Given the description of an element on the screen output the (x, y) to click on. 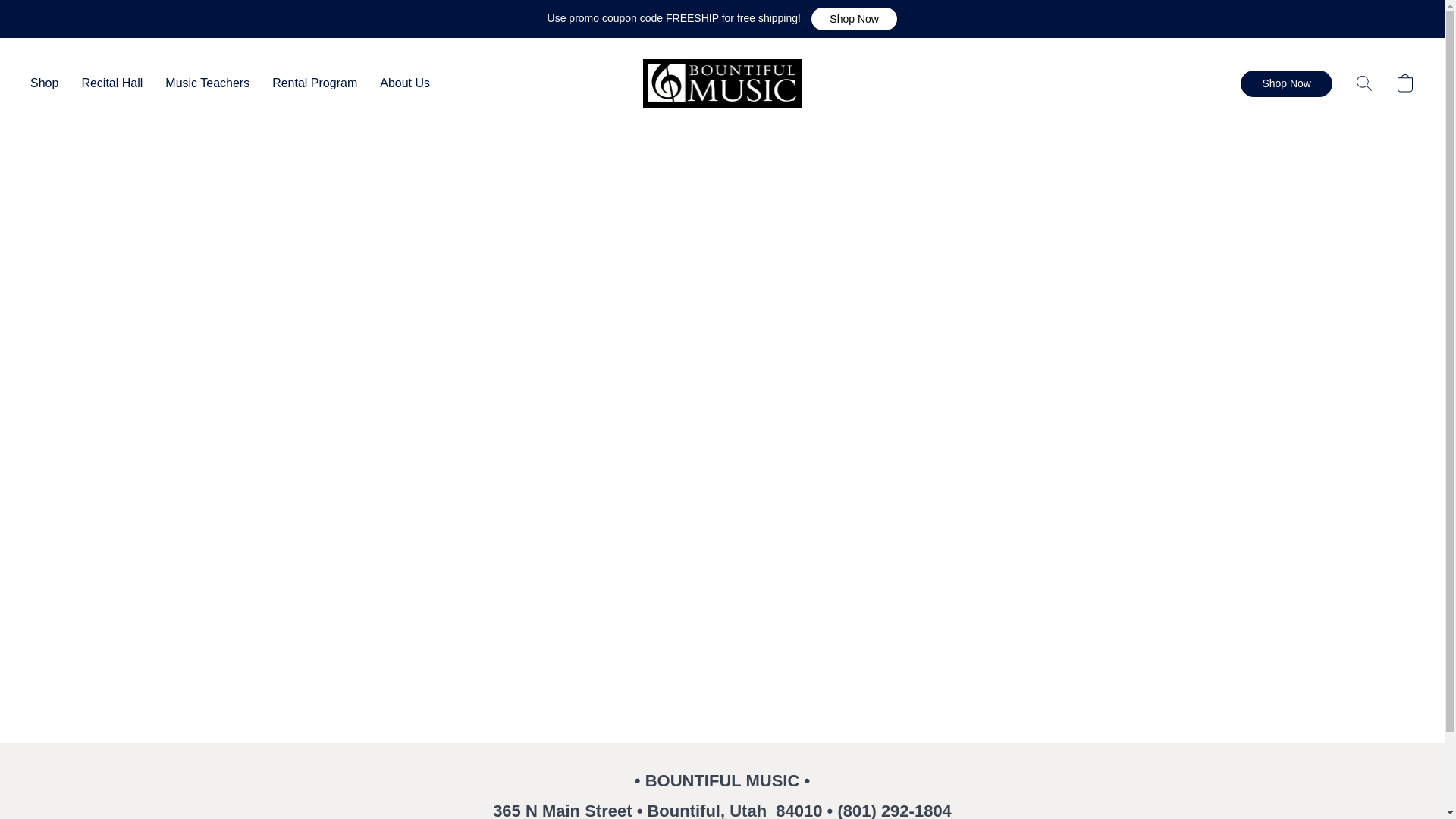
Recital Hall (111, 82)
Rental Program (314, 82)
Search the website (1363, 82)
Shop (49, 82)
Music Teachers (207, 82)
Shop Now (1286, 82)
Go to your shopping cart (1404, 82)
Shop Now (854, 18)
About Us (398, 82)
